Given the description of an element on the screen output the (x, y) to click on. 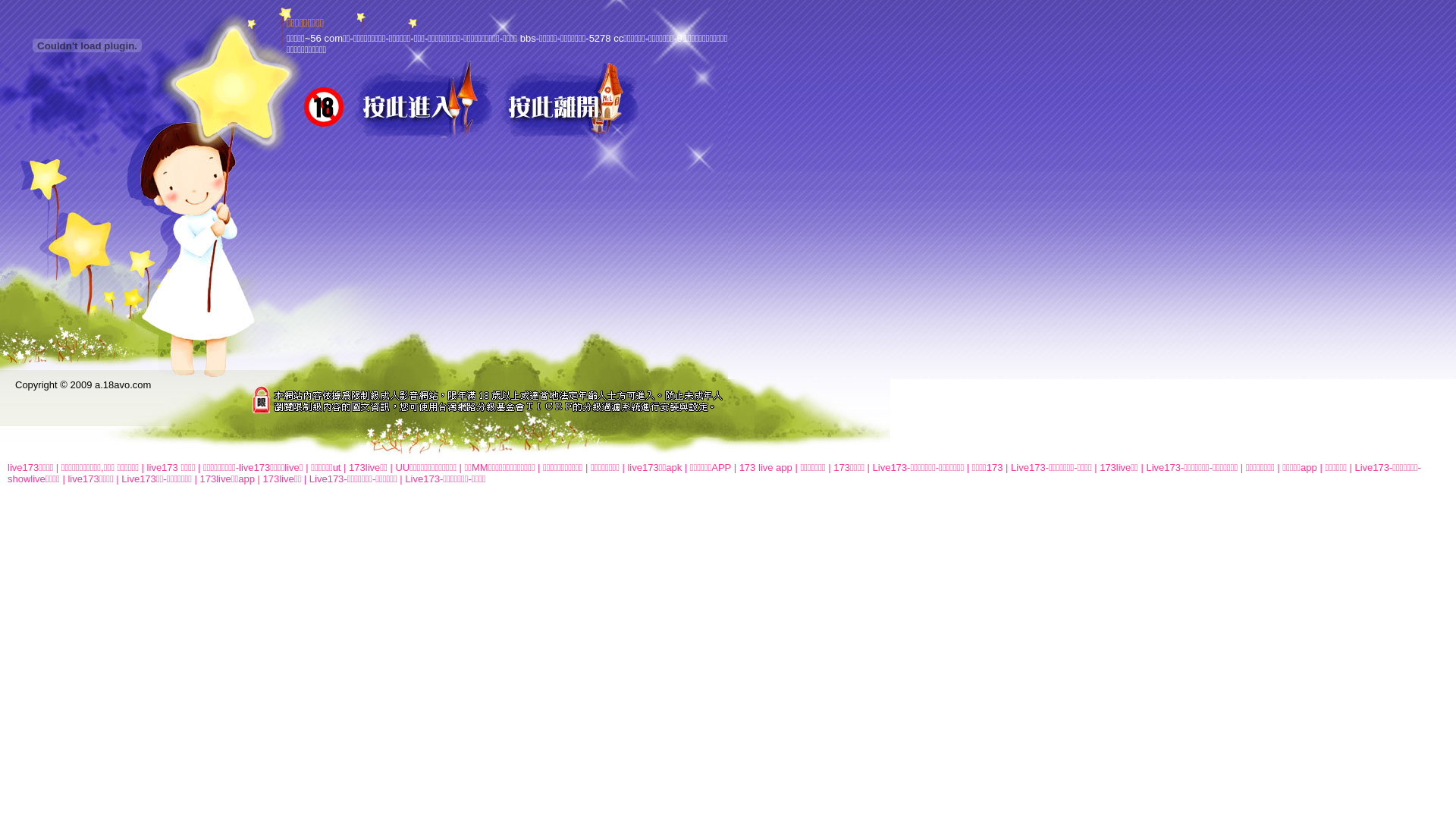
173 live app Element type: text (765, 467)
